Given the description of an element on the screen output the (x, y) to click on. 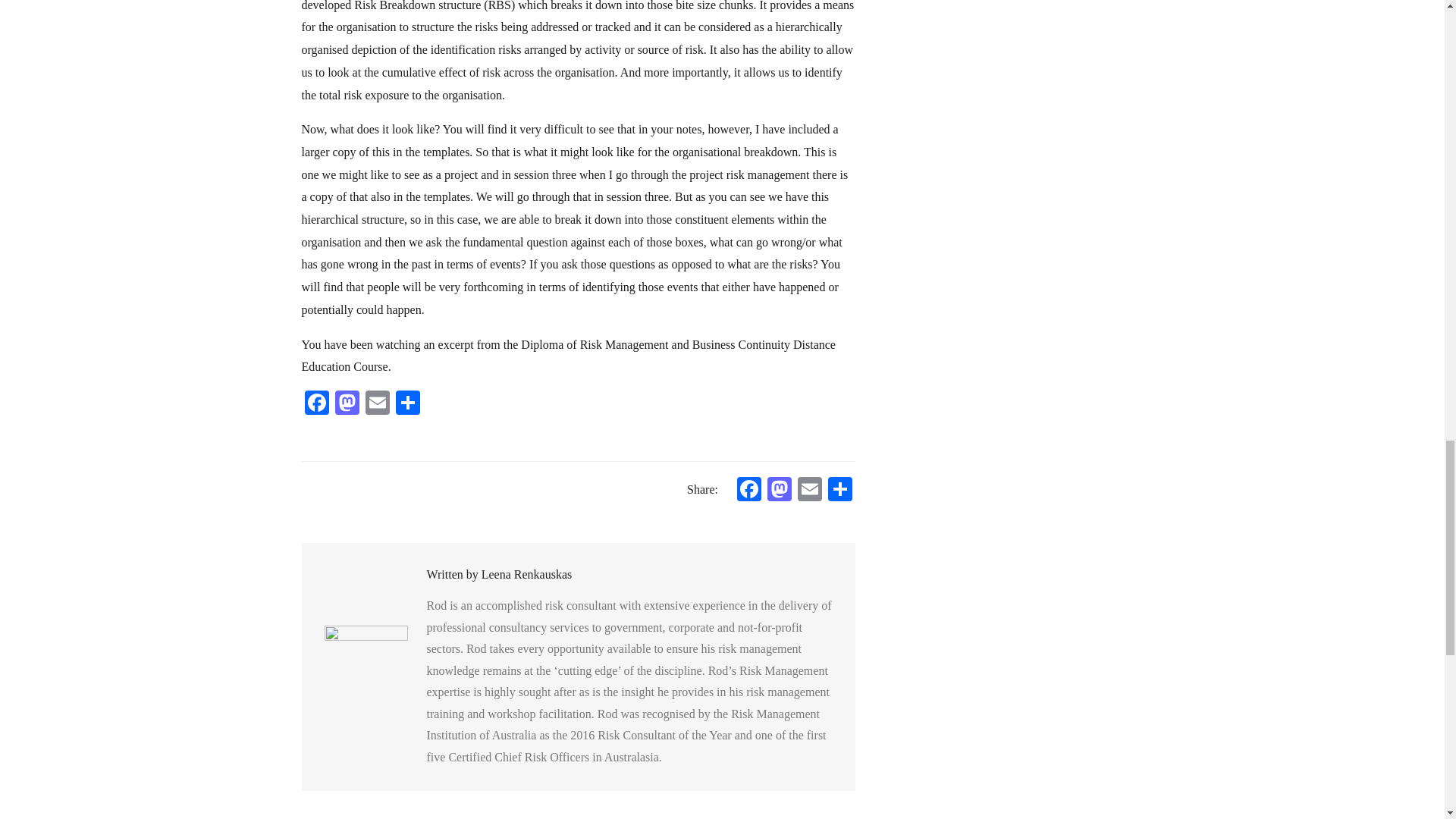
Facebook (316, 404)
Email (377, 404)
Mastodon (779, 490)
Email (377, 404)
Mastodon (346, 404)
Facebook (748, 490)
Email (809, 490)
Facebook (316, 404)
Mastodon (779, 490)
Mastodon (346, 404)
Share (408, 404)
Facebook (748, 490)
